Given the description of an element on the screen output the (x, y) to click on. 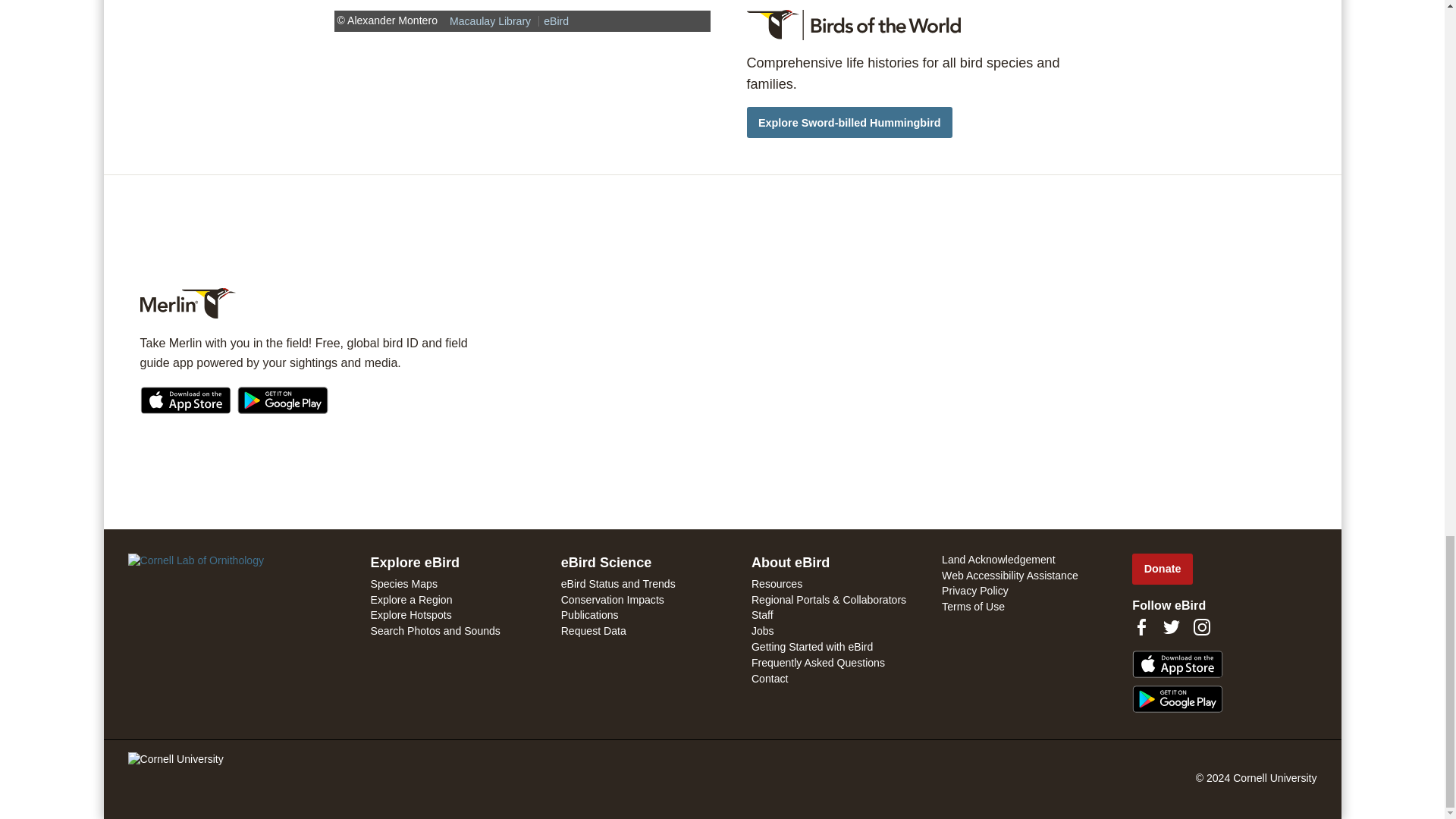
Find us on Facebook (1141, 627)
Follow us on Instagram (1201, 627)
Follow us on Twitter (1170, 627)
